Given the description of an element on the screen output the (x, y) to click on. 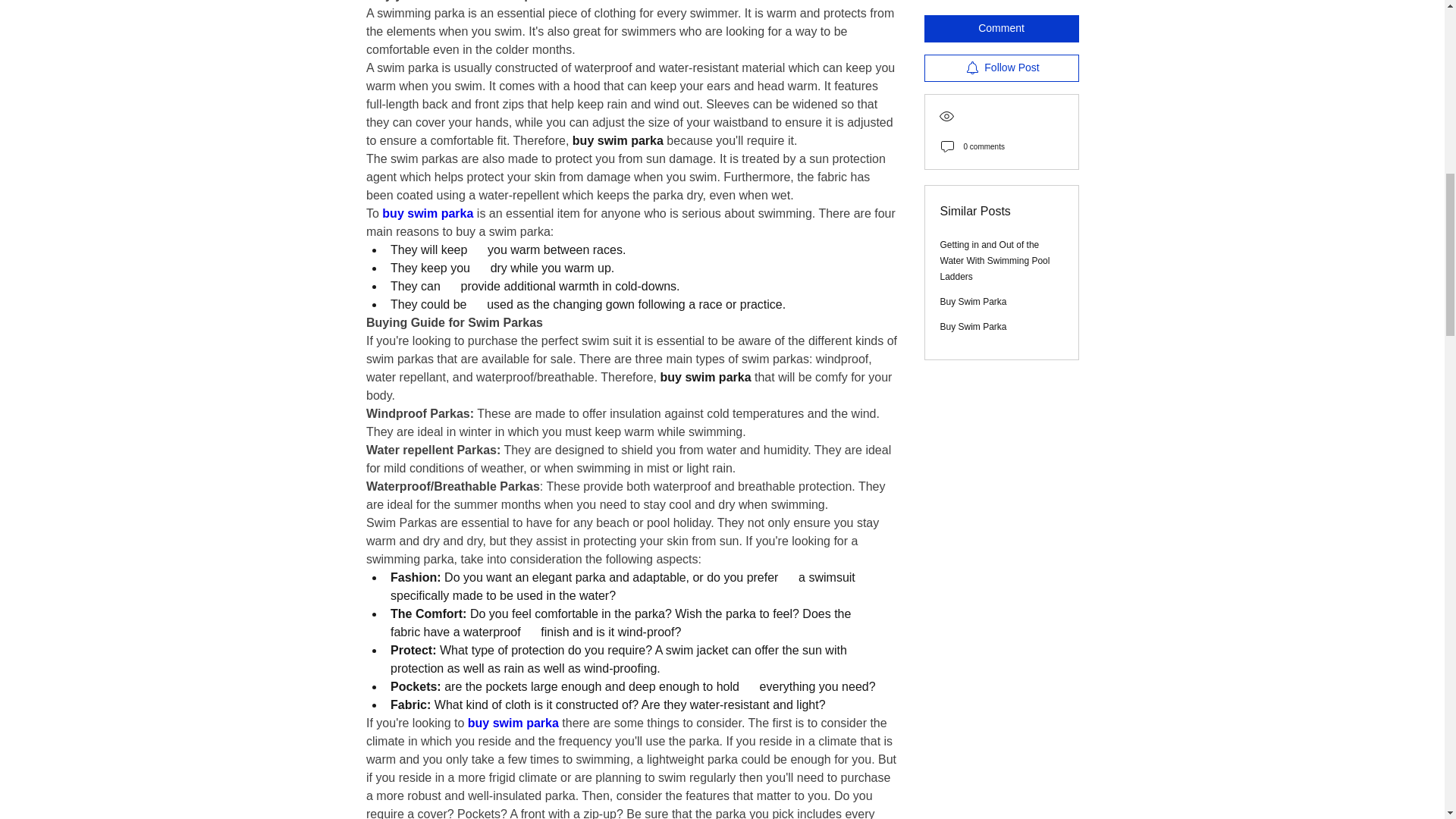
buy swim parka (512, 722)
buy swim parka (427, 213)
